Given the description of an element on the screen output the (x, y) to click on. 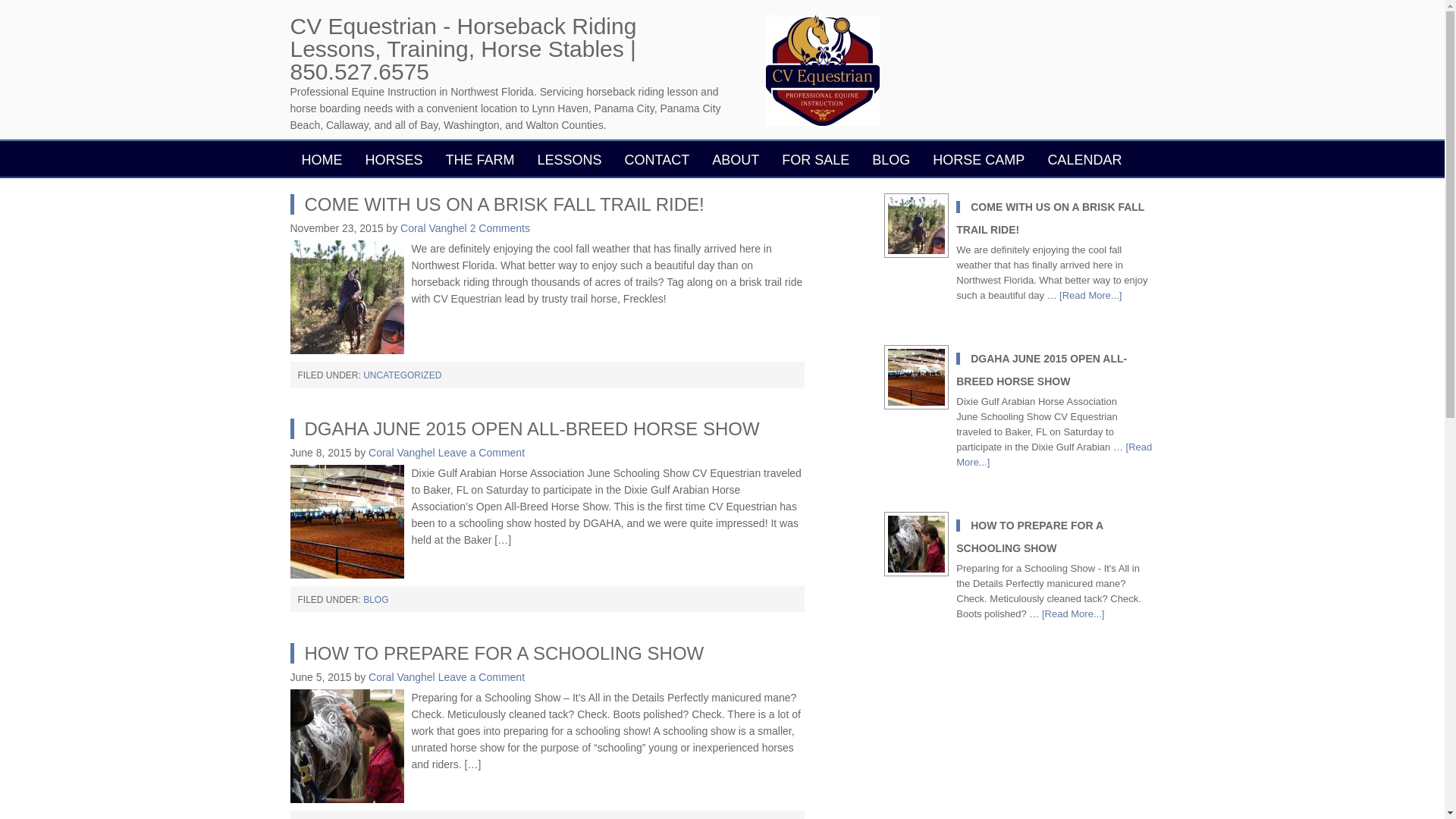
CALENDAR (1083, 158)
Coral Vanghel (433, 227)
Lessons (568, 158)
Contact (656, 158)
LESSONS (568, 158)
HOME (321, 158)
HORSES (393, 158)
For Sale (815, 158)
UNCATEGORIZED (401, 375)
DGAHA JUNE 2015 OPEN ALL-BREED HORSE SHOW (523, 428)
